Given the description of an element on the screen output the (x, y) to click on. 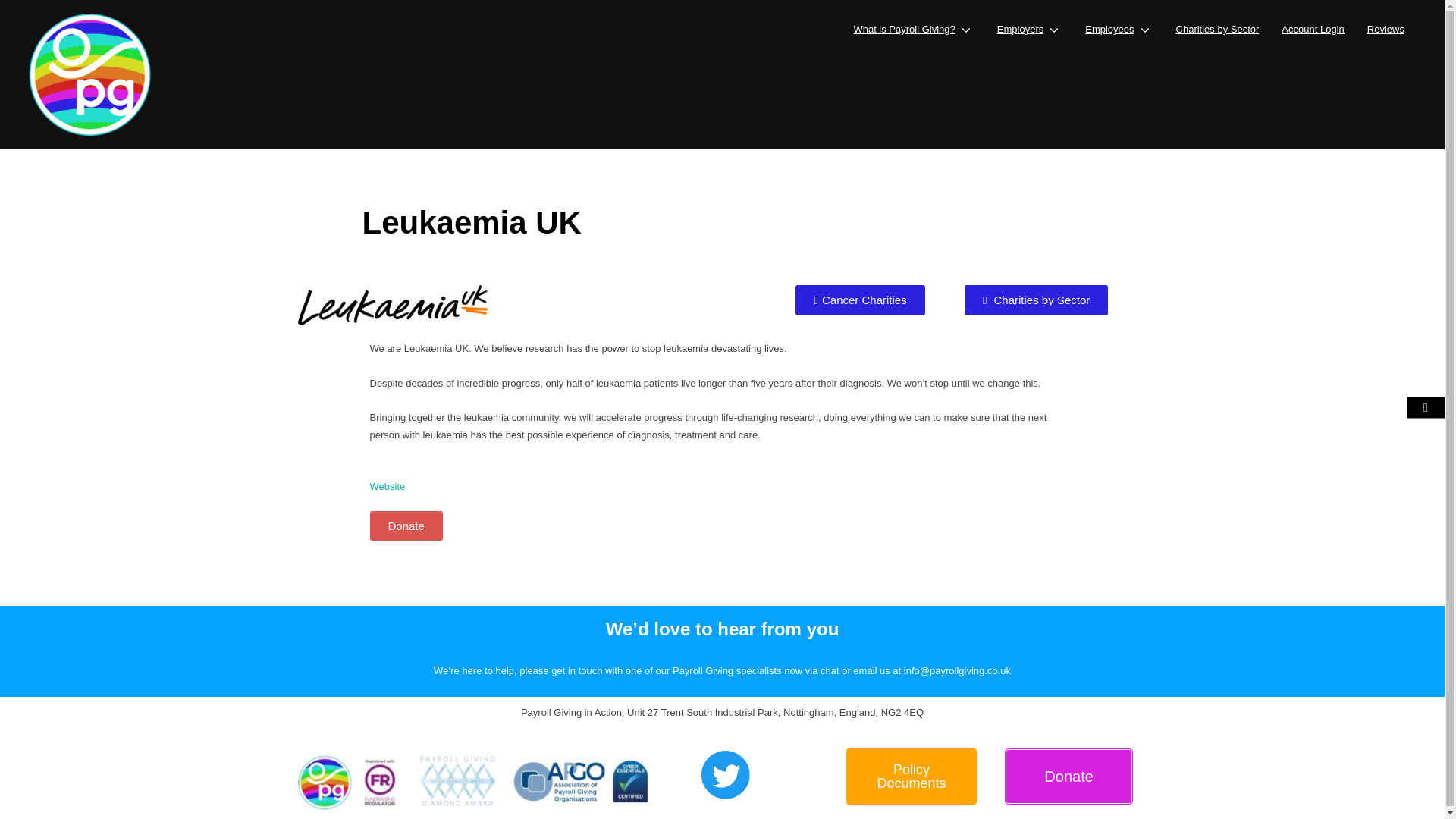
Employers (1029, 29)
Charities by Sector (1217, 29)
Account Login (1312, 29)
What is Payroll Giving? (913, 29)
Employees (1118, 29)
Reviews (1386, 29)
